Given the description of an element on the screen output the (x, y) to click on. 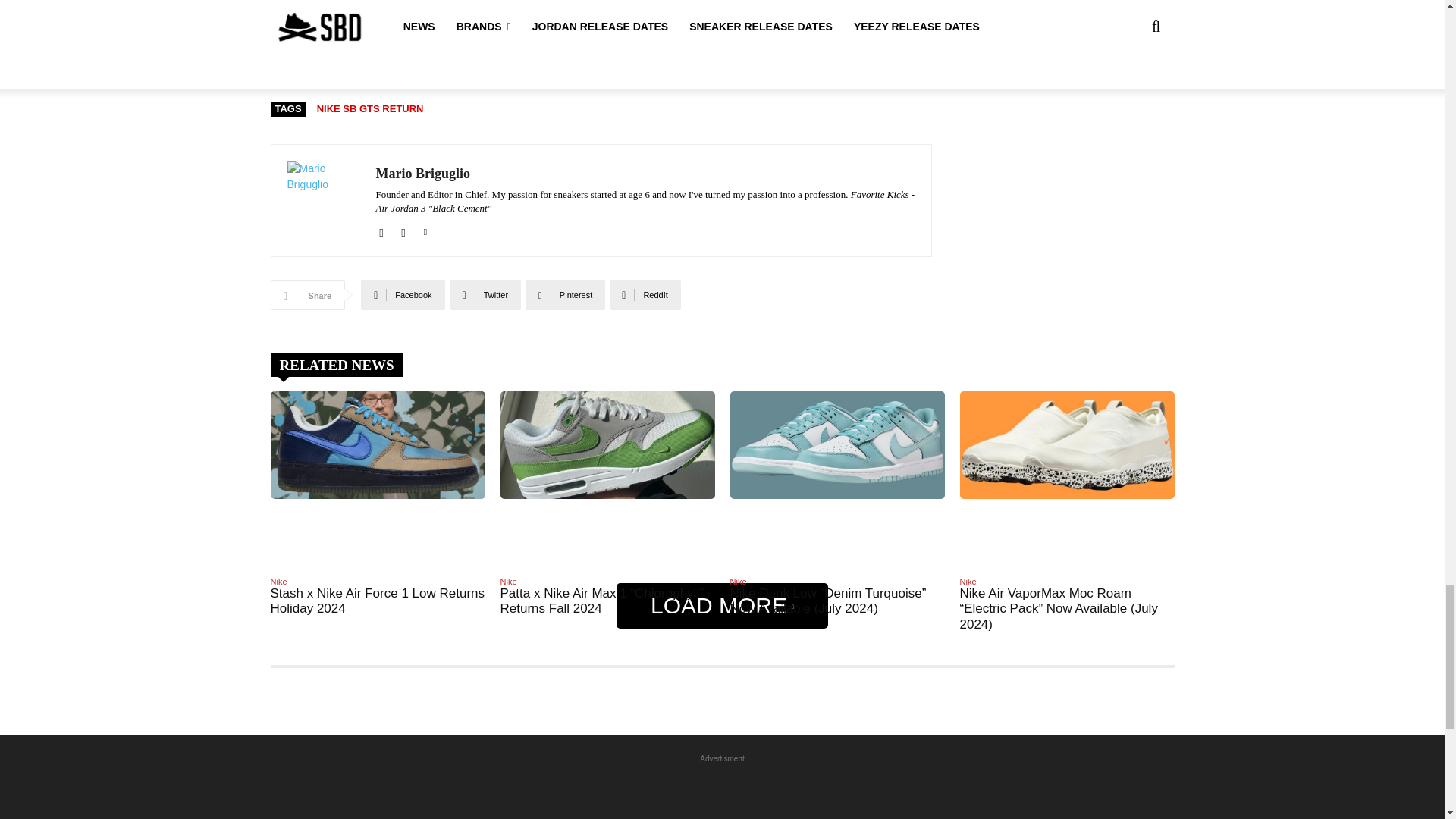
Instagram (403, 229)
Facebook (381, 229)
Mario Briguglio (322, 200)
